Given the description of an element on the screen output the (x, y) to click on. 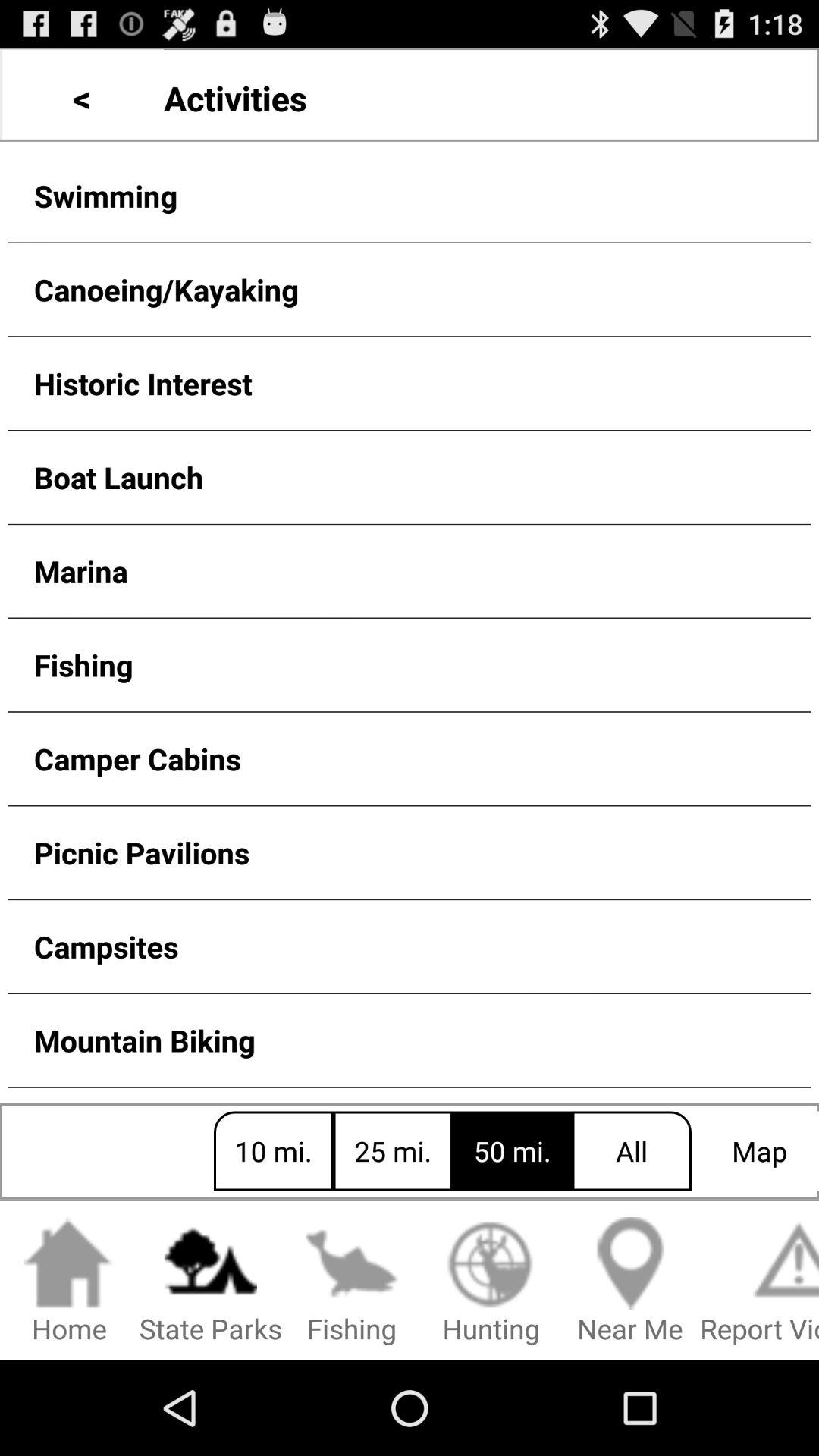
tap the button below < (409, 195)
